Given the description of an element on the screen output the (x, y) to click on. 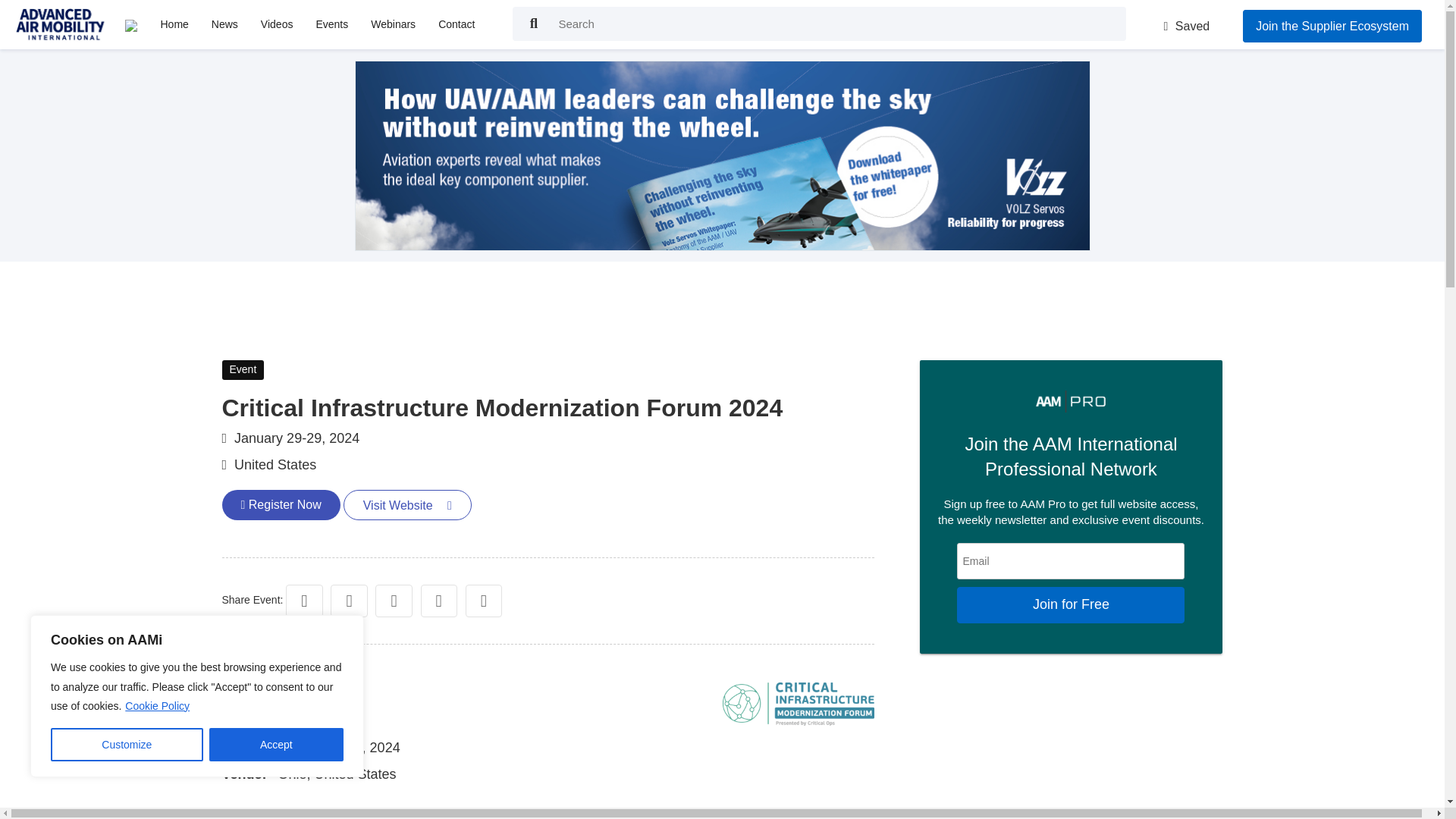
Customize (126, 744)
News (224, 24)
Events (331, 24)
Videos (277, 24)
Saved (1186, 25)
Cookie Policy (156, 705)
Register Now (280, 504)
Contact (455, 24)
Accept (276, 744)
Home (173, 24)
Webinars (392, 24)
Join the Supplier Ecosystem (1332, 25)
Visit Website (407, 504)
